Given the description of an element on the screen output the (x, y) to click on. 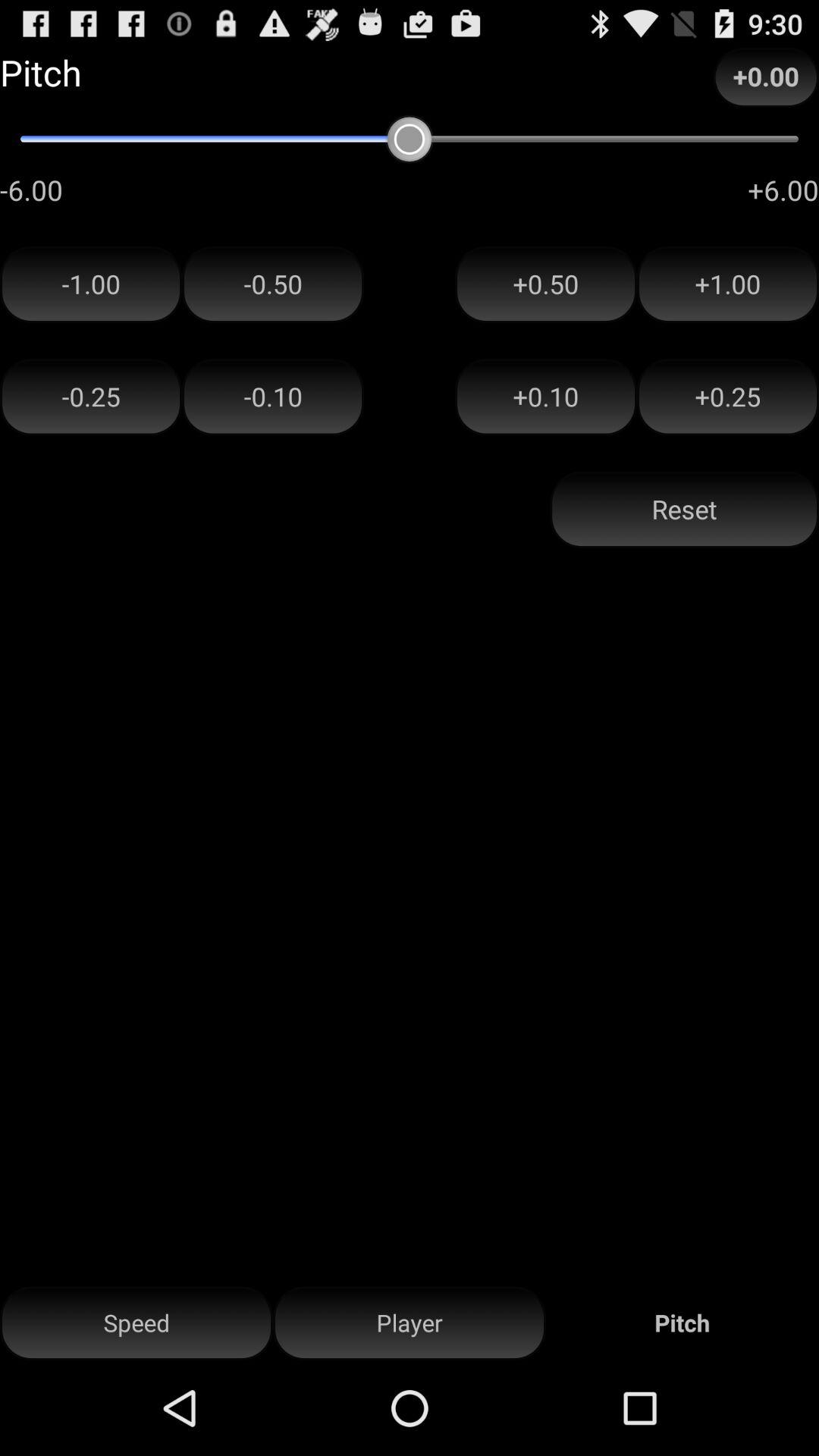
open speed button (136, 1323)
